Given the description of an element on the screen output the (x, y) to click on. 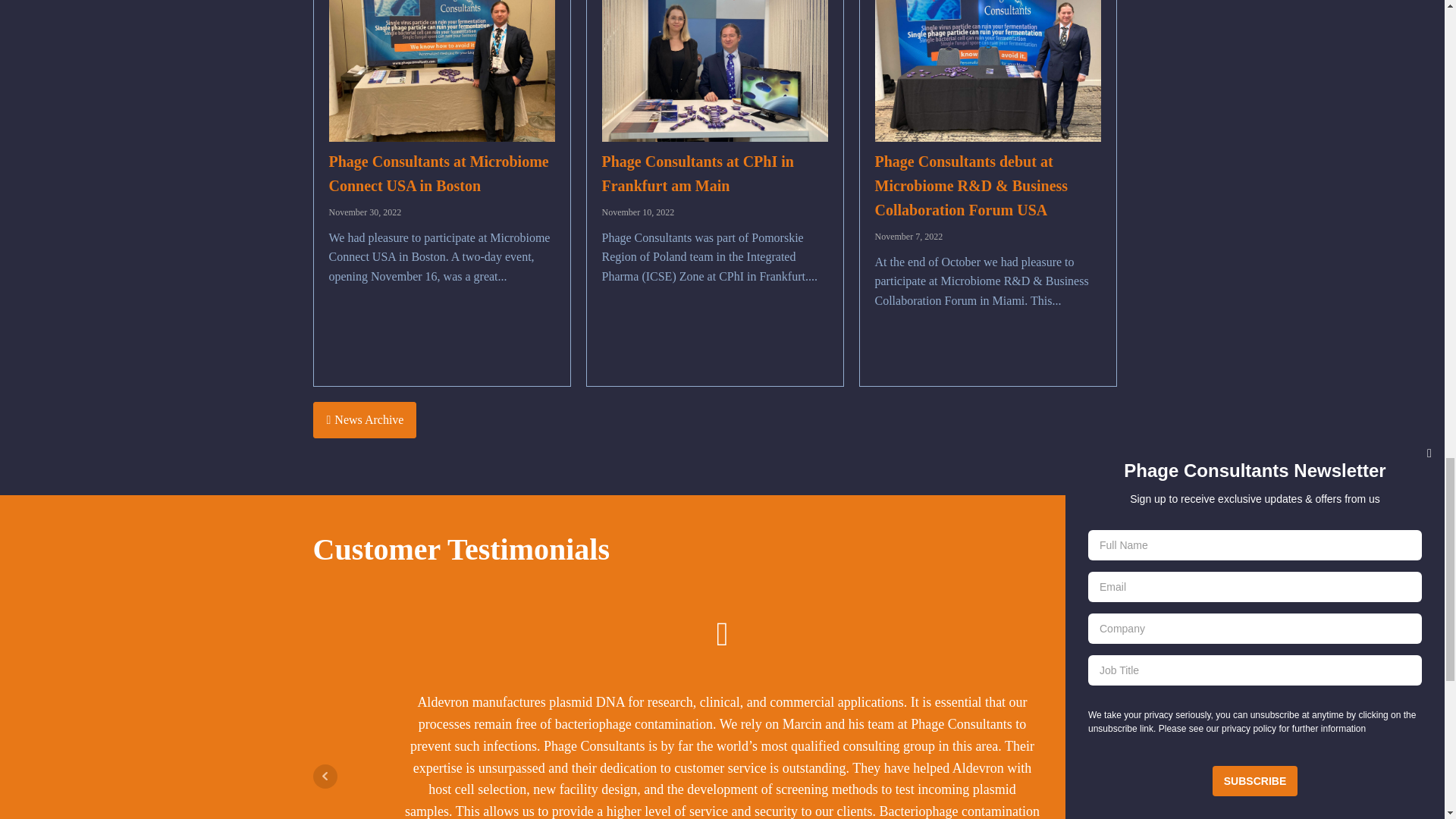
Phage Consultants at CPhI in Frankfurt am Main (697, 173)
 News Archive (364, 420)
Next (1118, 776)
Phage Consultants at Microbiome Connect USA in Boston (438, 173)
